Given the description of an element on the screen output the (x, y) to click on. 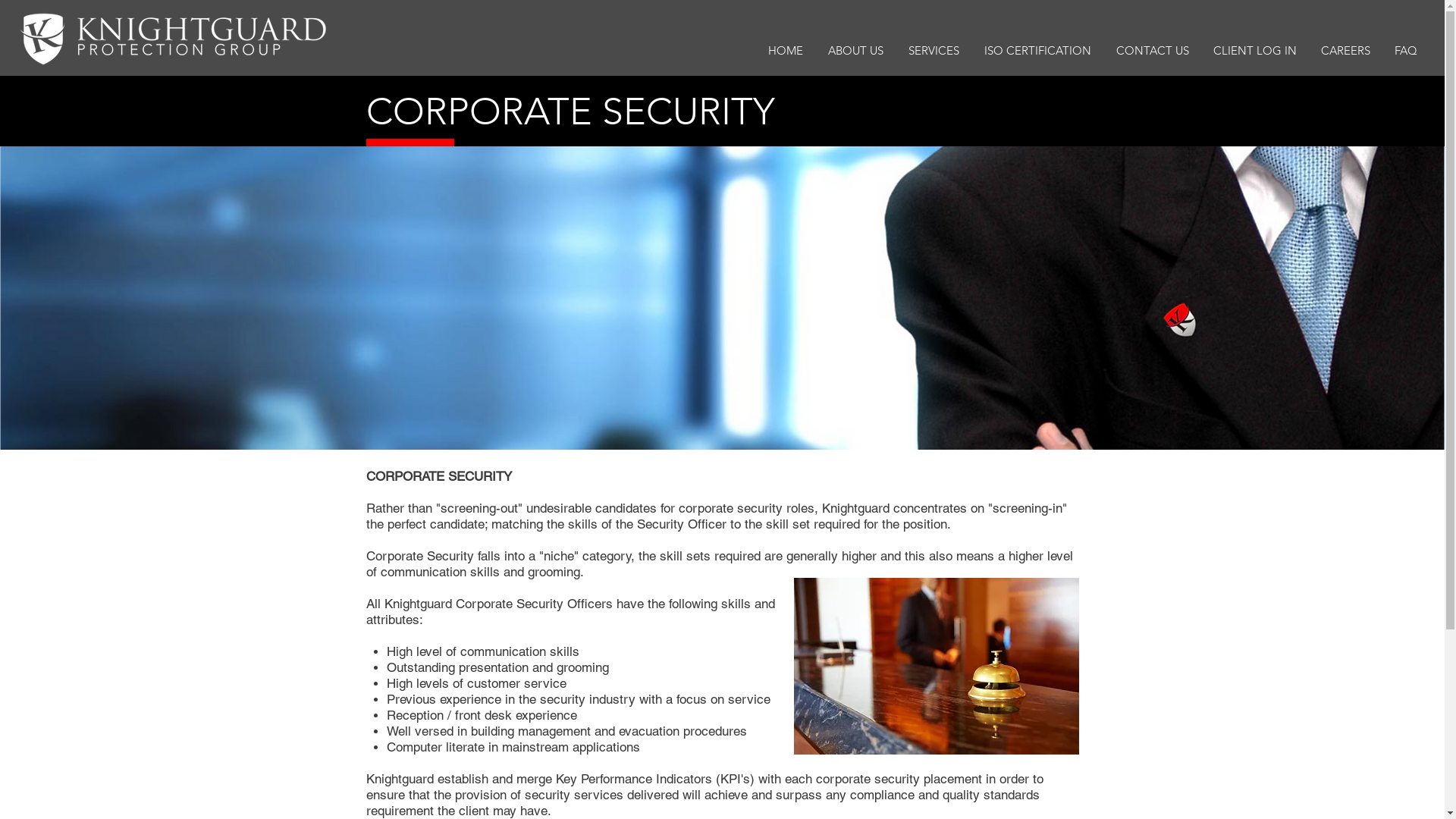
HOME Element type: text (785, 50)
CAREERS Element type: text (1345, 50)
SERVICES Element type: text (933, 50)
FAQ Element type: text (1405, 50)
CONTACT US Element type: text (1152, 50)
One Company - One Solution Element type: hover (174, 37)
ISO CERTIFICATION Element type: text (1037, 50)
CLIENT LOG IN Element type: text (1254, 50)
ABOUT US Element type: text (855, 50)
